Given the description of an element on the screen output the (x, y) to click on. 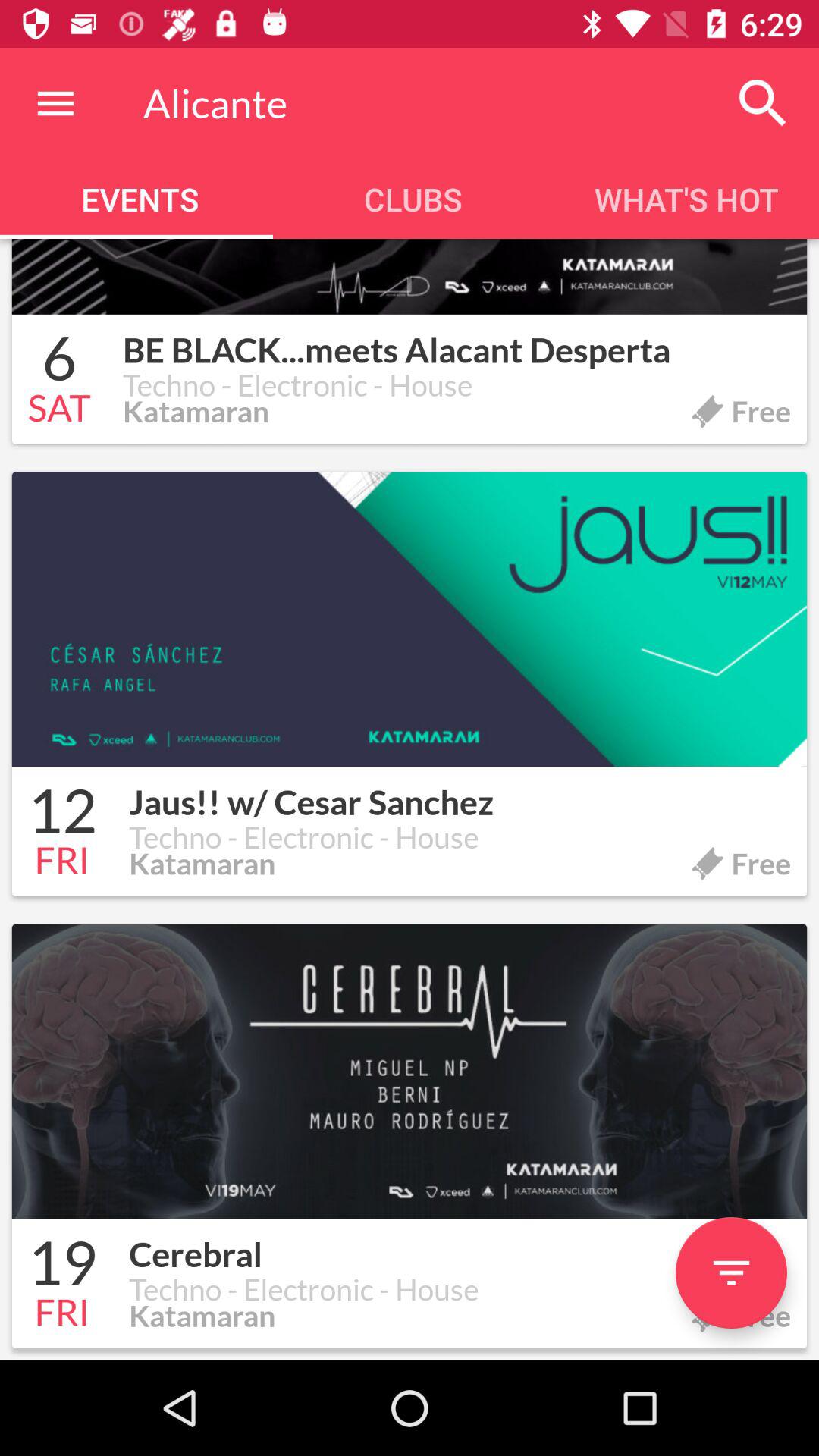
choose 12 (62, 813)
